Given the description of an element on the screen output the (x, y) to click on. 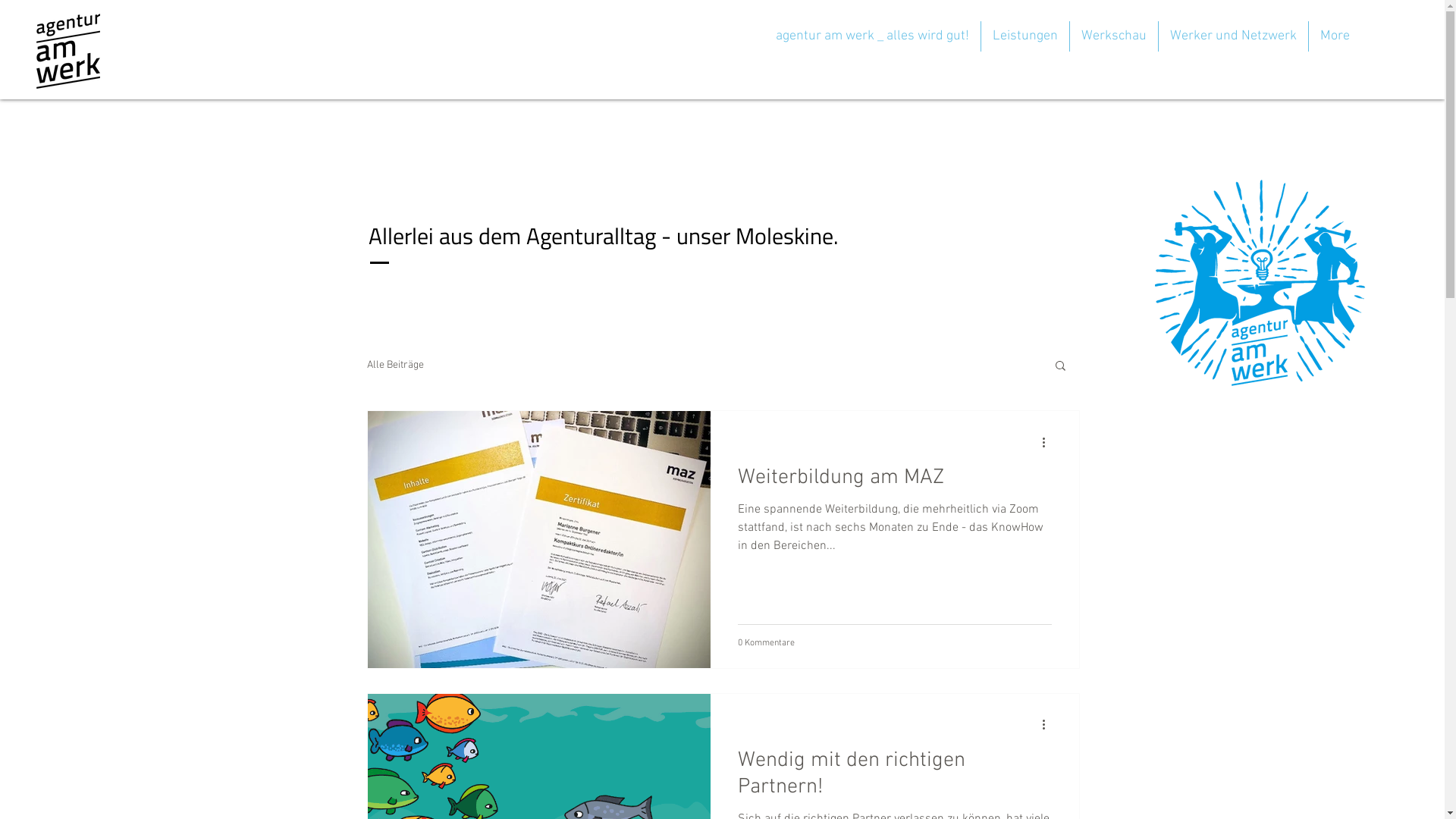
Werker und Netzwerk Element type: text (1233, 36)
Leistungen Element type: text (1025, 36)
Werkschau Element type: text (1113, 36)
0 Kommentare Element type: text (765, 642)
Wendig mit den richtigen Partnern! Element type: text (894, 777)
Weiterbildung am MAZ Element type: text (894, 482)
logo-rz-gross.png Element type: hover (68, 50)
agentur am werk _ alles wird gut! Element type: text (872, 36)
